Given the description of an element on the screen output the (x, y) to click on. 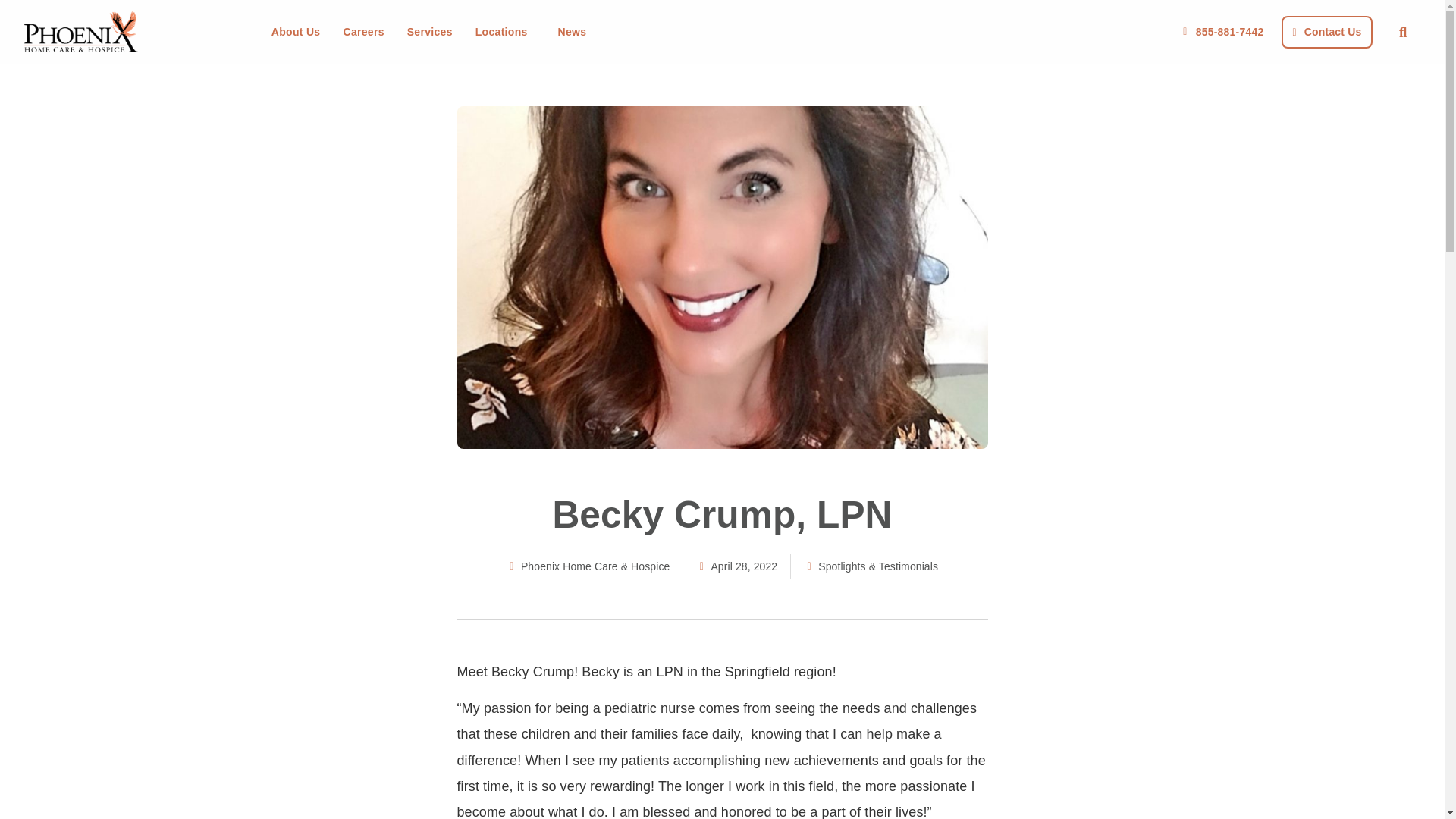
Locations (505, 31)
About Us (296, 31)
Services (429, 31)
Contact Us (1326, 31)
855-881-7442 (1220, 31)
April 28, 2022 (736, 566)
